Given the description of an element on the screen output the (x, y) to click on. 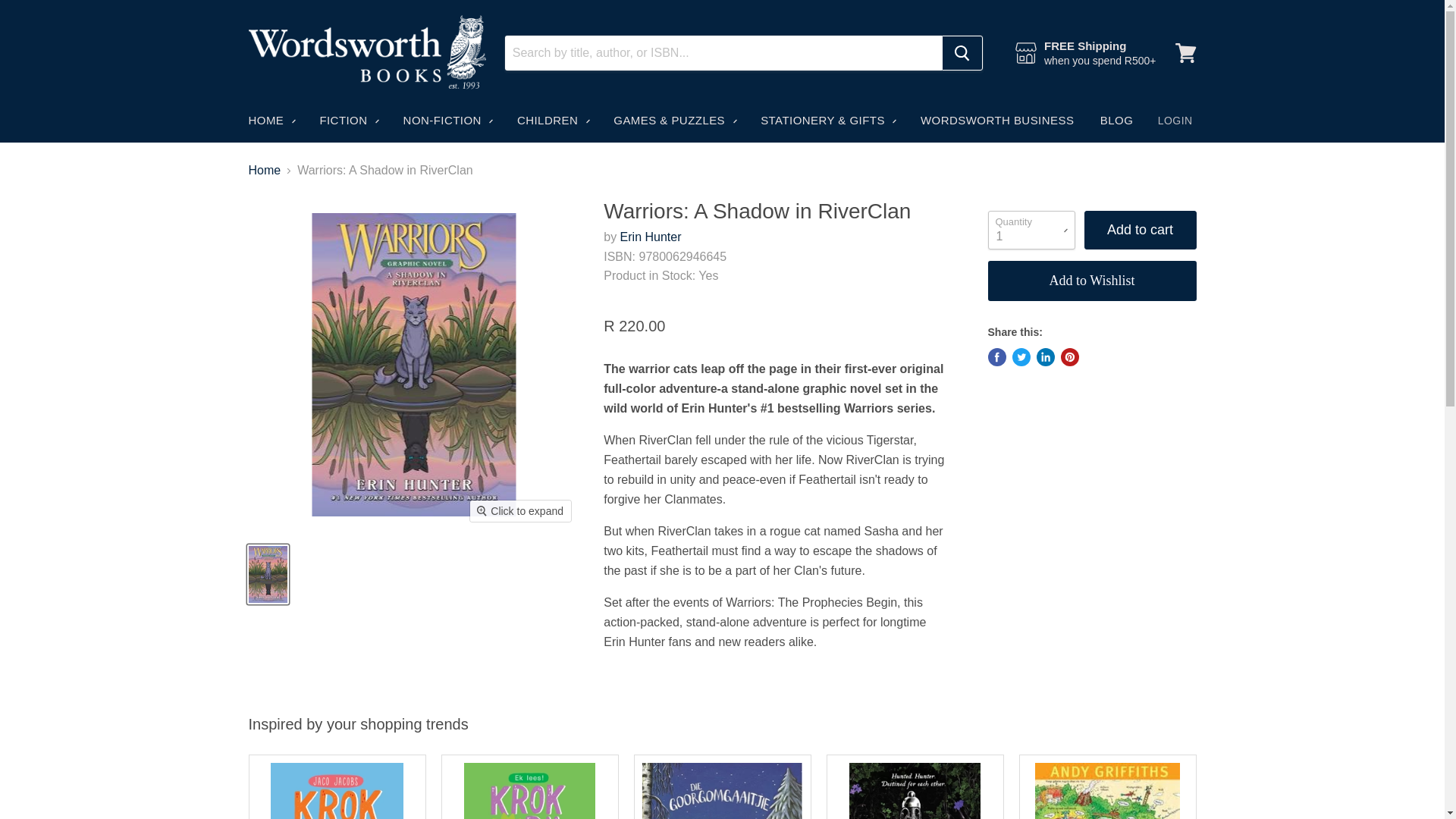
Erin Hunter (650, 236)
FICTION (347, 120)
View cart (1185, 53)
HOME (269, 120)
